Given the description of an element on the screen output the (x, y) to click on. 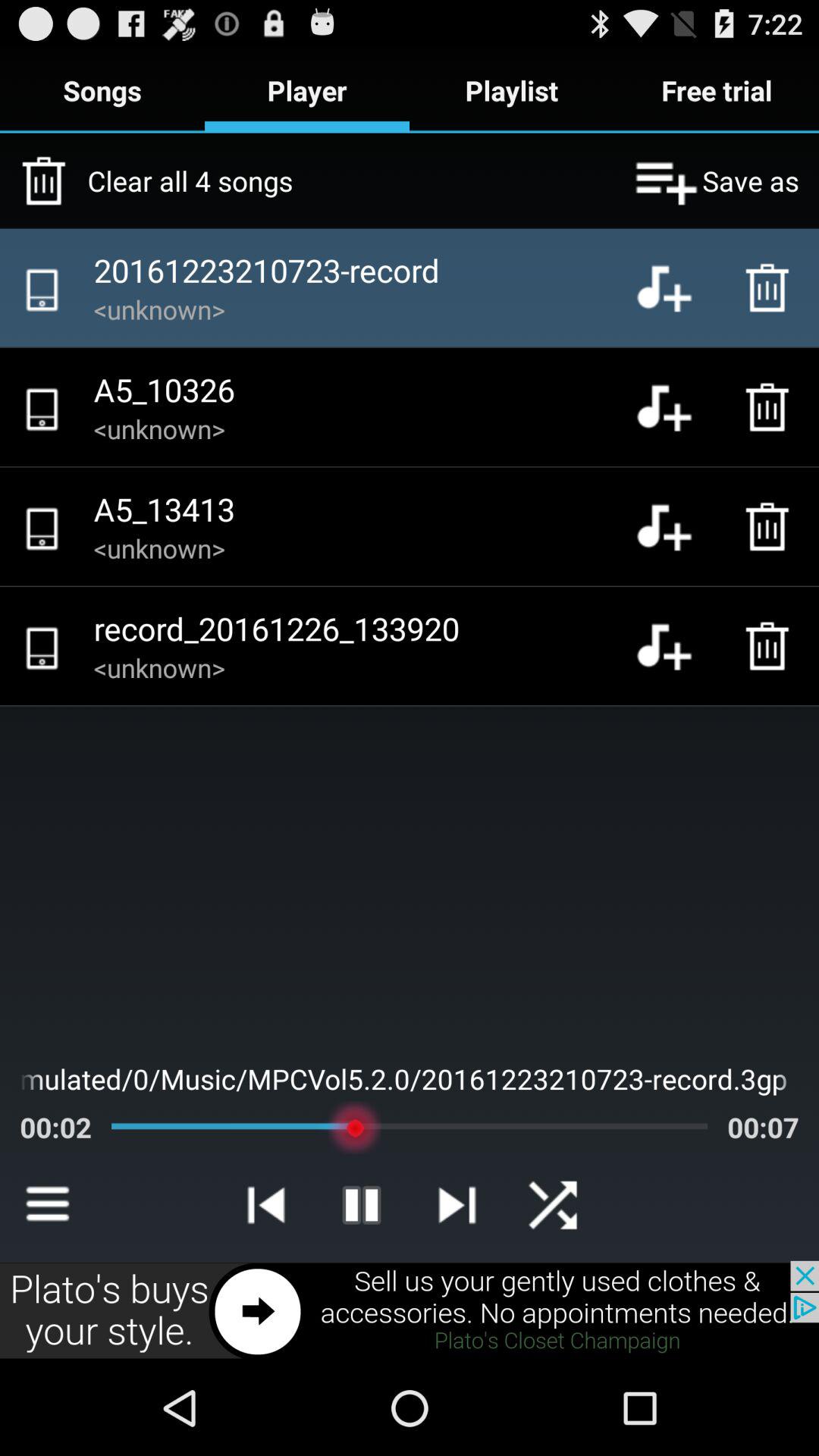
delete box (771, 645)
